Given the description of an element on the screen output the (x, y) to click on. 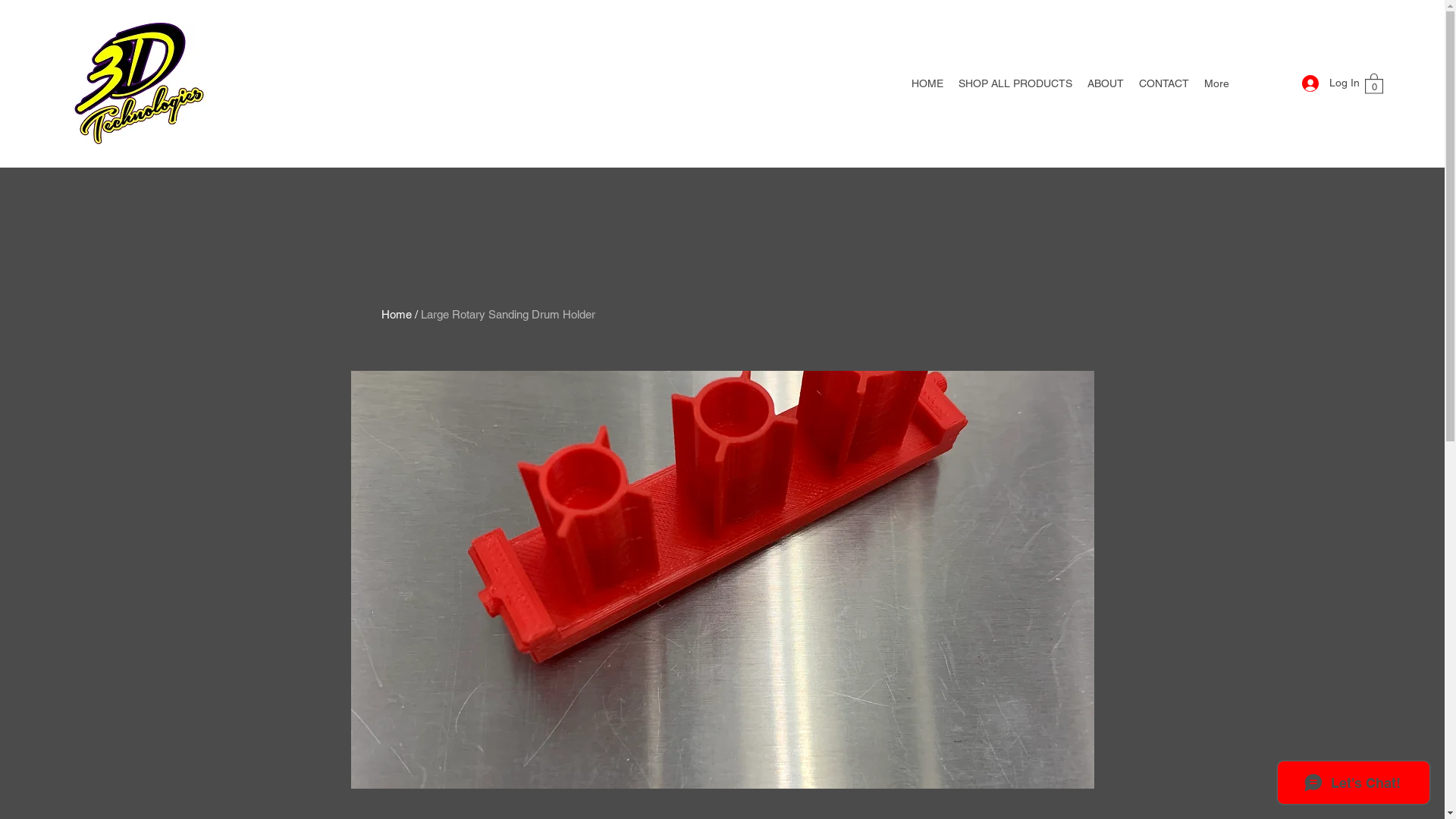
HOME Element type: text (926, 83)
Large Rotary Sanding Drum Holder Element type: text (507, 313)
SHOP ALL PRODUCTS Element type: text (1014, 83)
Log In Element type: text (1325, 83)
ABOUT Element type: text (1105, 83)
Home Element type: text (395, 313)
CONTACT Element type: text (1163, 83)
0 Element type: text (1374, 83)
